Given the description of an element on the screen output the (x, y) to click on. 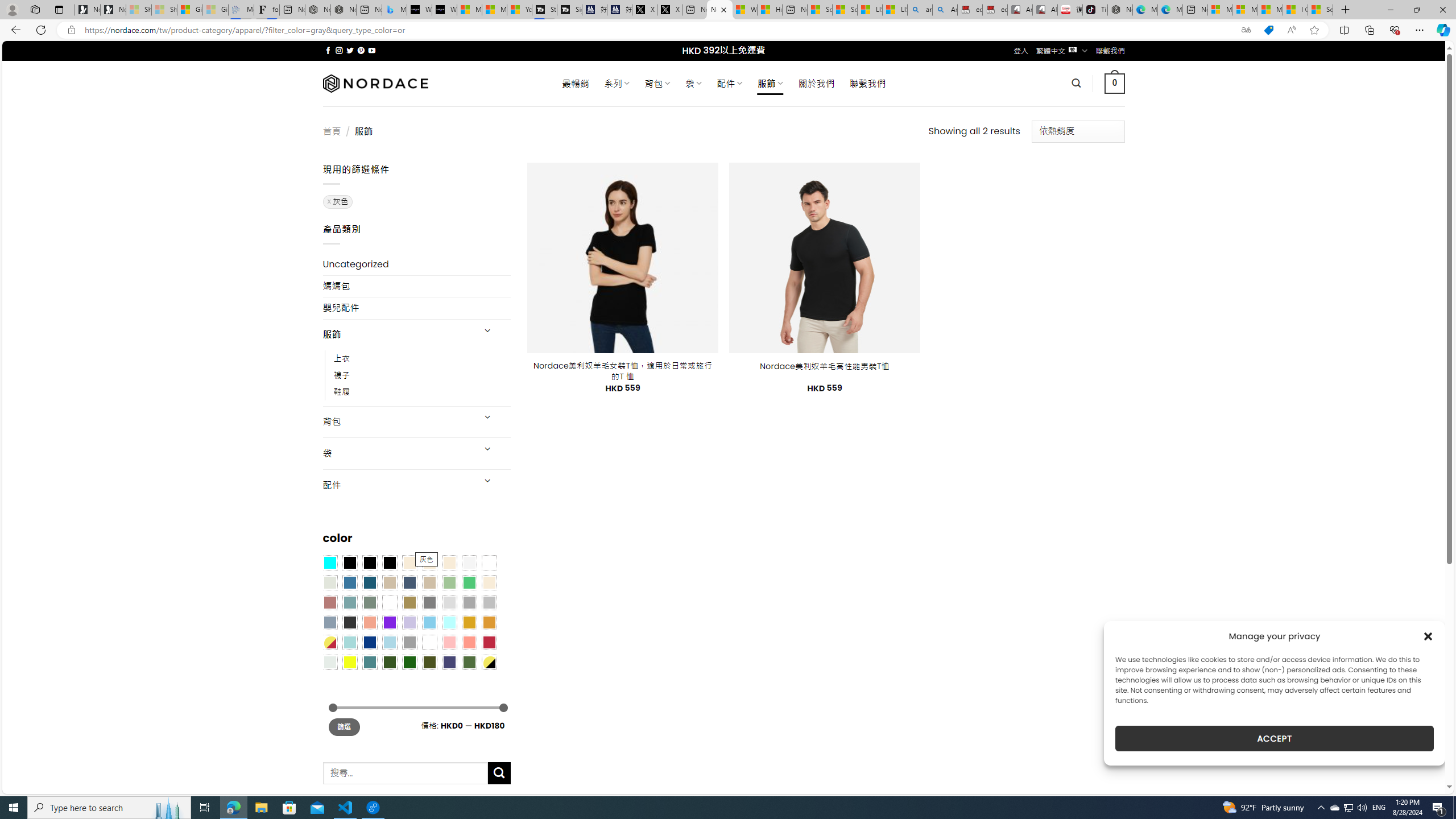
Follow on Facebook (327, 50)
